Given the description of an element on the screen output the (x, y) to click on. 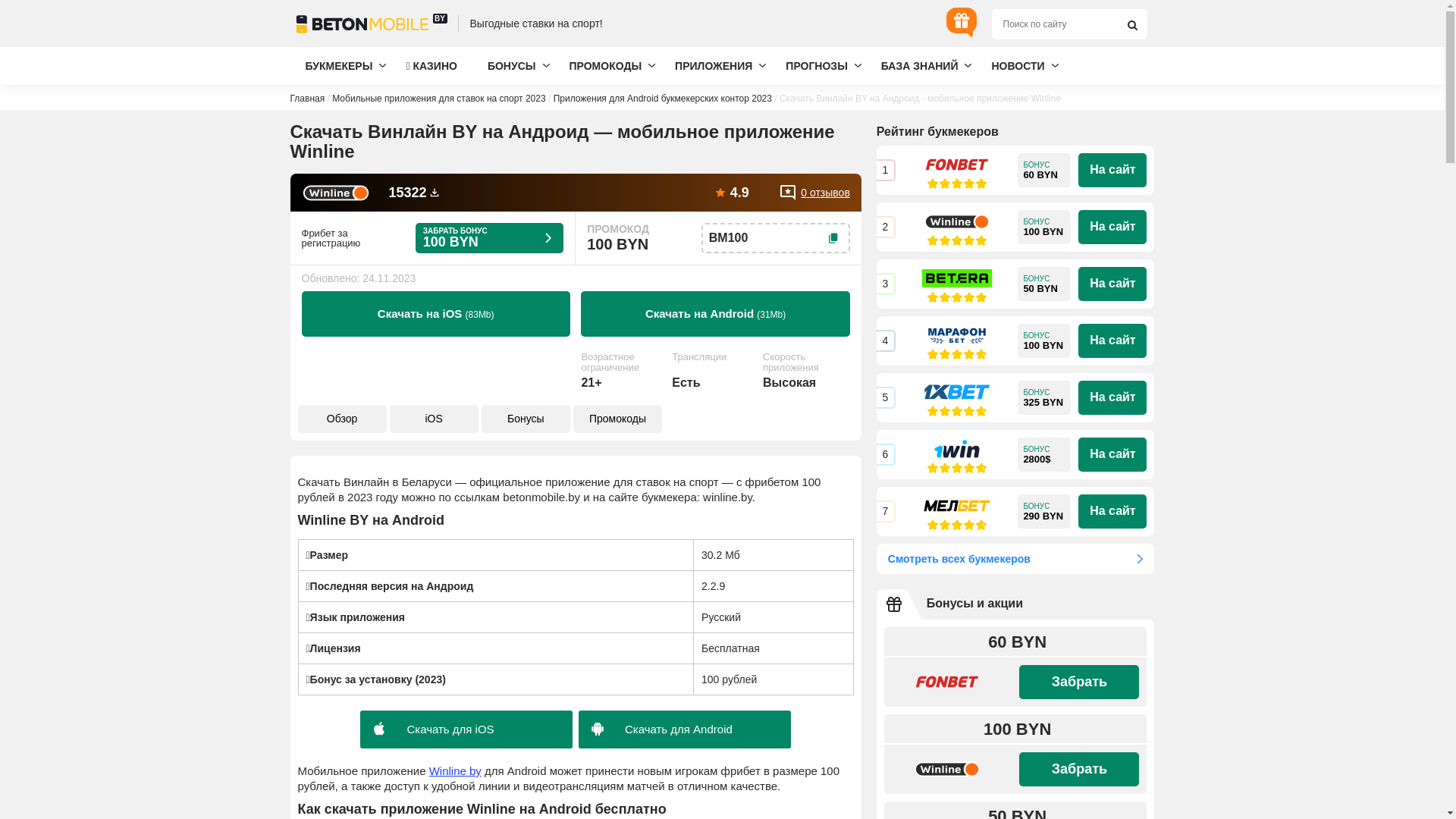
100 BYN Element type: text (1043, 340)
100 BYN Element type: text (1043, 227)
Winline by Element type: text (455, 770)
290 BYN Element type: text (1043, 511)
50 BYN Element type: text (1043, 283)
325 BYN Element type: text (1043, 397)
iOS Element type: text (433, 418)
BM100 Element type: text (775, 237)
60 BYN Element type: text (1043, 170)
4.9 Element type: text (731, 192)
2800$ Element type: text (1043, 454)
